Given the description of an element on the screen output the (x, y) to click on. 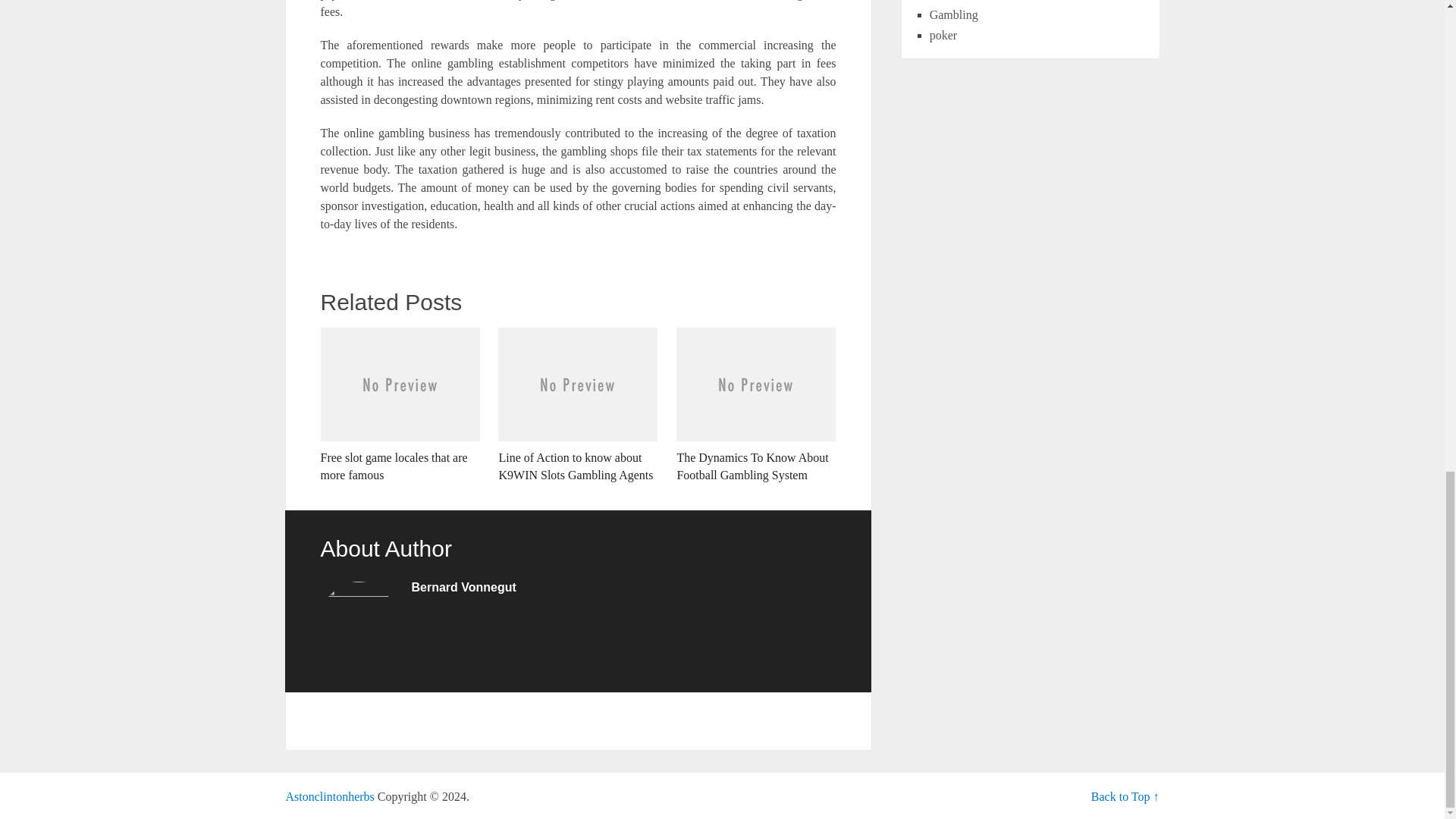
The Dynamics To Know About Football Gambling System (756, 405)
Line of Action to know about K9WIN Slots Gambling Agents (577, 405)
Line of Action to know about K9WIN Slots Gambling Agents (577, 405)
The Dynamics To Know About Football Gambling System (756, 405)
Free slot game locales that are more famous (399, 405)
Free slot game locales that are more famous (399, 405)
